Given the description of an element on the screen output the (x, y) to click on. 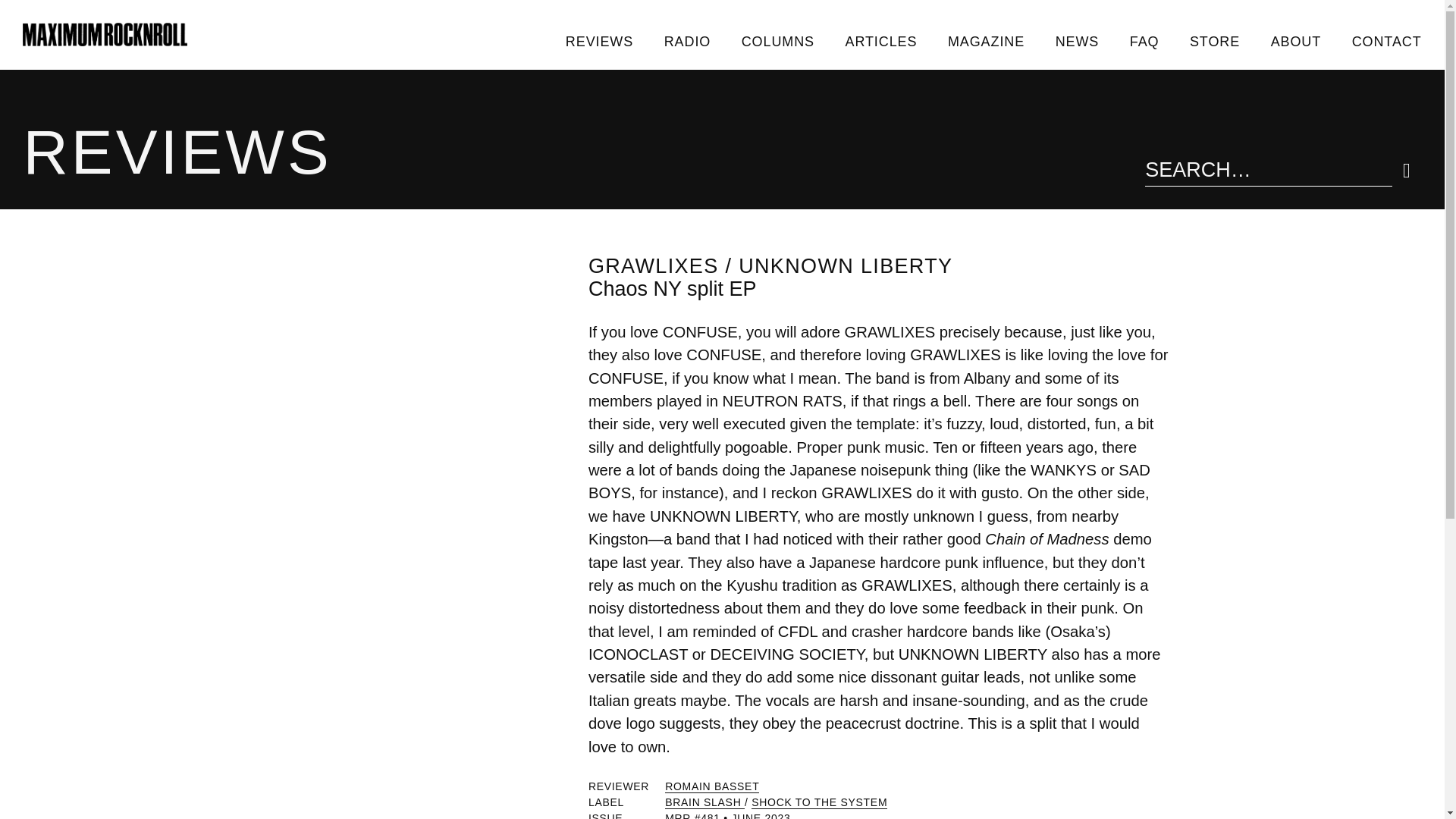
MAGAZINE (987, 41)
BRAIN SLASH (704, 802)
COLUMNS (777, 41)
CONTACT (1385, 41)
FAQ (1143, 41)
ARTICLES (880, 41)
ABOUT (1295, 41)
ROMAIN BASSET (711, 786)
SHOCK TO THE SYSTEM (818, 802)
RADIO (686, 41)
STORE (1214, 41)
UNKNOWN LIBERTY (845, 265)
NEWS (1076, 41)
REVIEWS (599, 41)
